Given the description of an element on the screen output the (x, y) to click on. 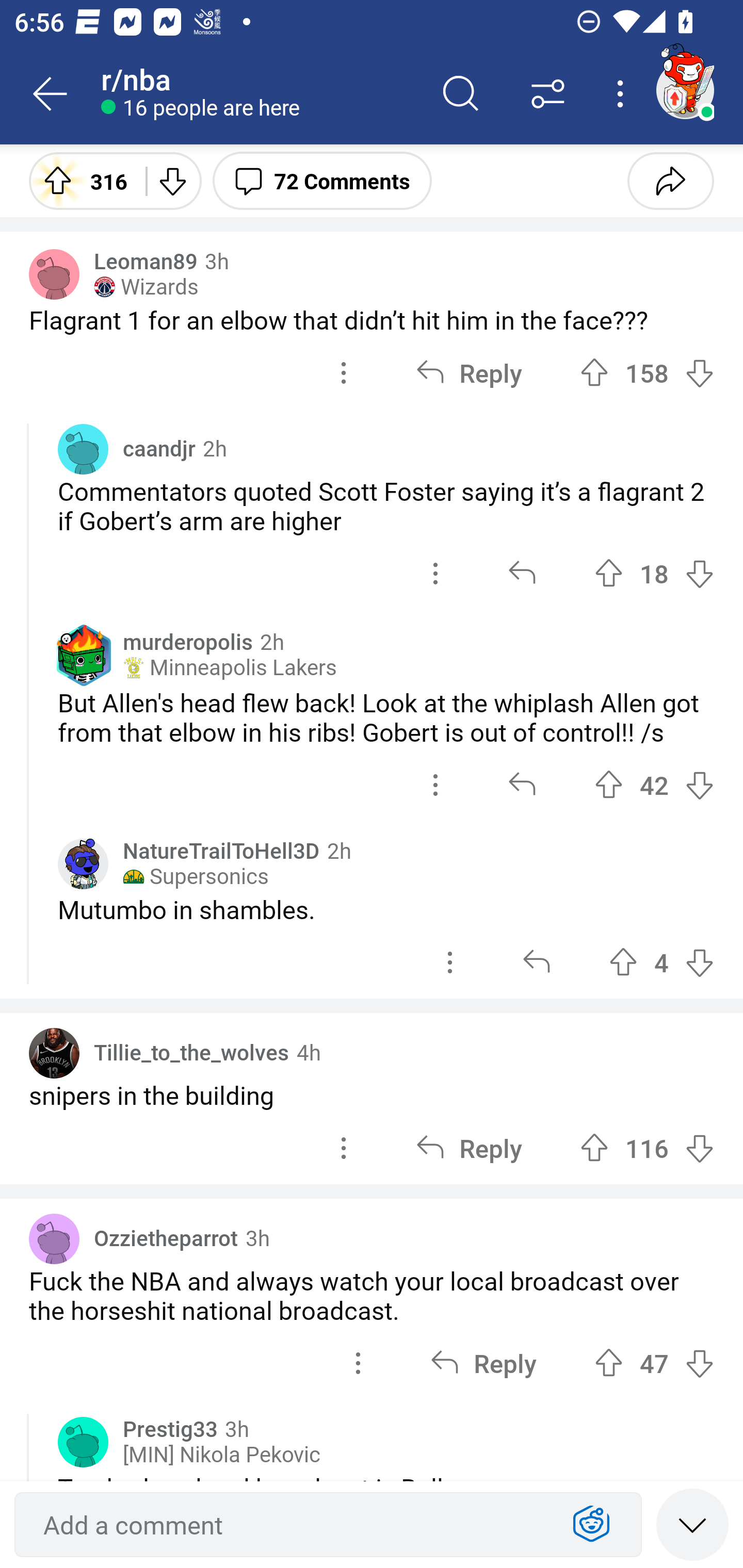
Back (50, 93)
TestAppium002 account (685, 90)
Search comments (460, 93)
Sort comments (547, 93)
More options (623, 93)
r/nba 16 people are here (259, 93)
Upvote 316 (79, 180)
Downvote (171, 180)
72 Comments (321, 180)
Share (670, 180)
Avatar (53, 274)
￼ Wizards (145, 286)
options (343, 373)
Reply (469, 373)
Upvote 158 158 votes Downvote (647, 373)
Avatar (82, 448)
options (435, 573)
Upvote 18 18 votes Downvote (654, 573)
￼ Minneapolis Lakers (229, 667)
options (435, 785)
Upvote 42 42 votes Downvote (654, 785)
Custom avatar (82, 863)
￼ Supersonics (195, 876)
Mutumbo in shambles. (385, 909)
options (449, 962)
Upvote 4 4 votes Downvote (661, 962)
Avatar (53, 1053)
snipers in the building (371, 1094)
options (343, 1147)
Reply (469, 1147)
Upvote 116 116 votes Downvote (647, 1147)
Avatar (53, 1238)
options (358, 1362)
Reply (483, 1362)
Upvote 47 47 votes Downvote (654, 1362)
Avatar (82, 1442)
[MIN] Nikola Pekovic (221, 1454)
Speed read (692, 1524)
Add a comment (291, 1524)
Show Expressions (590, 1524)
